Given the description of an element on the screen output the (x, y) to click on. 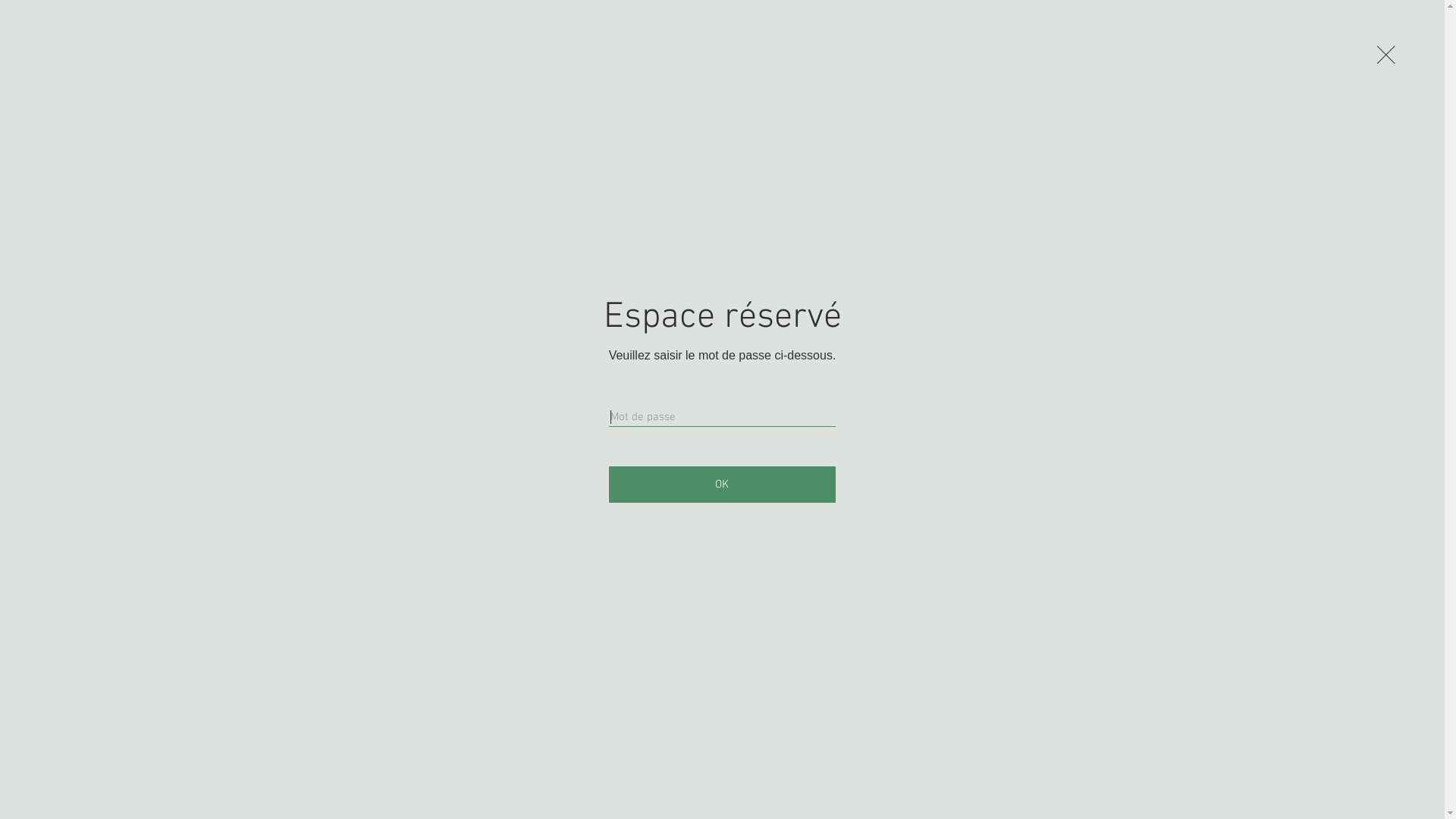
OK Element type: text (722, 484)
